Given the description of an element on the screen output the (x, y) to click on. 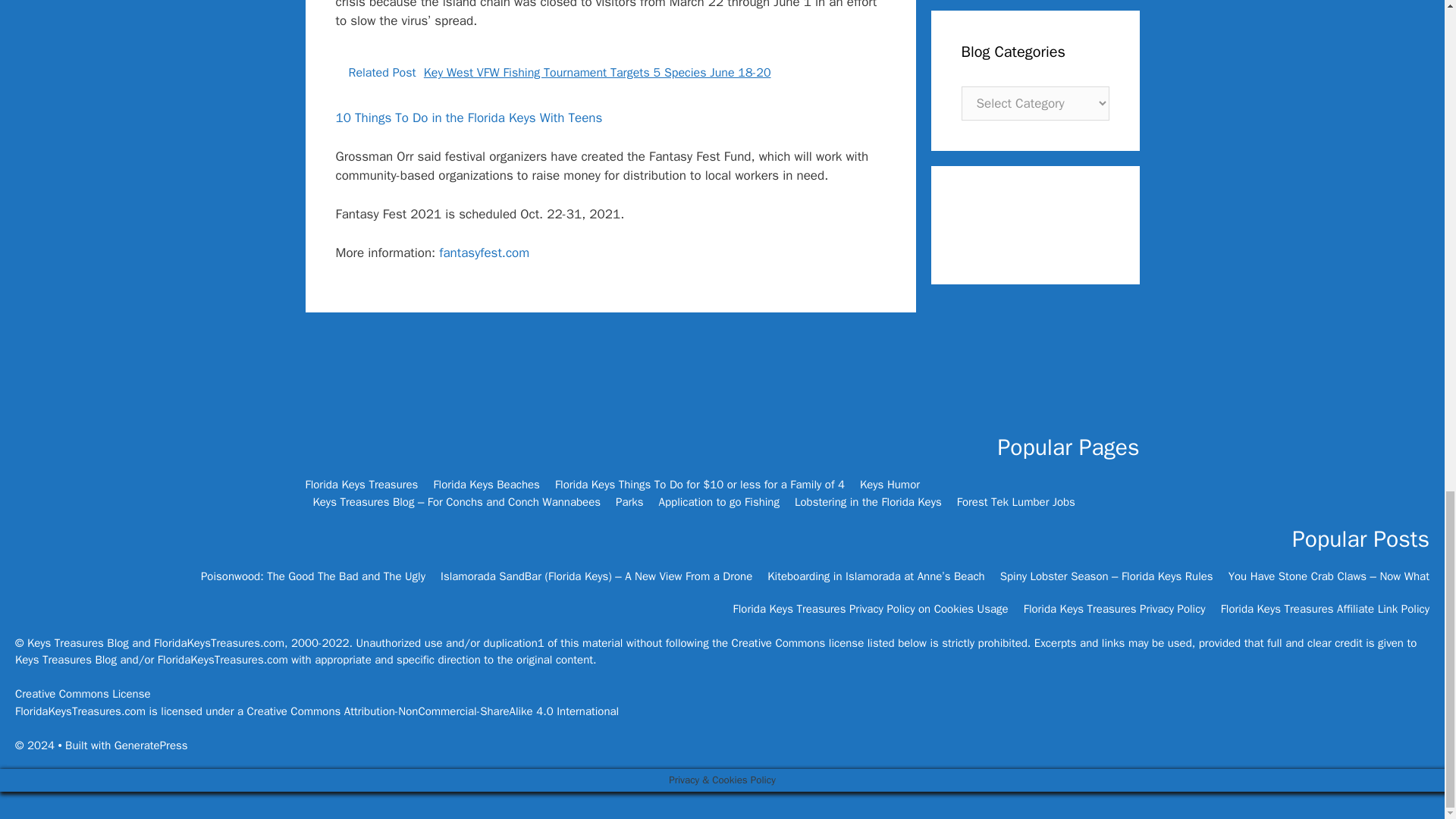
Application to go Fishing (718, 501)
Parks (629, 501)
Keys Humor (890, 484)
Florida Keys Treasures (360, 484)
Forest Tek Lumber Jobs (1015, 501)
Poisonwood: The Good The Bad and The Ugly (312, 576)
GeneratePress (151, 745)
10 Things To Do in the Florida Keys With Teens (468, 117)
Florida Keys Treasures Privacy Policy (1114, 608)
